Given the description of an element on the screen output the (x, y) to click on. 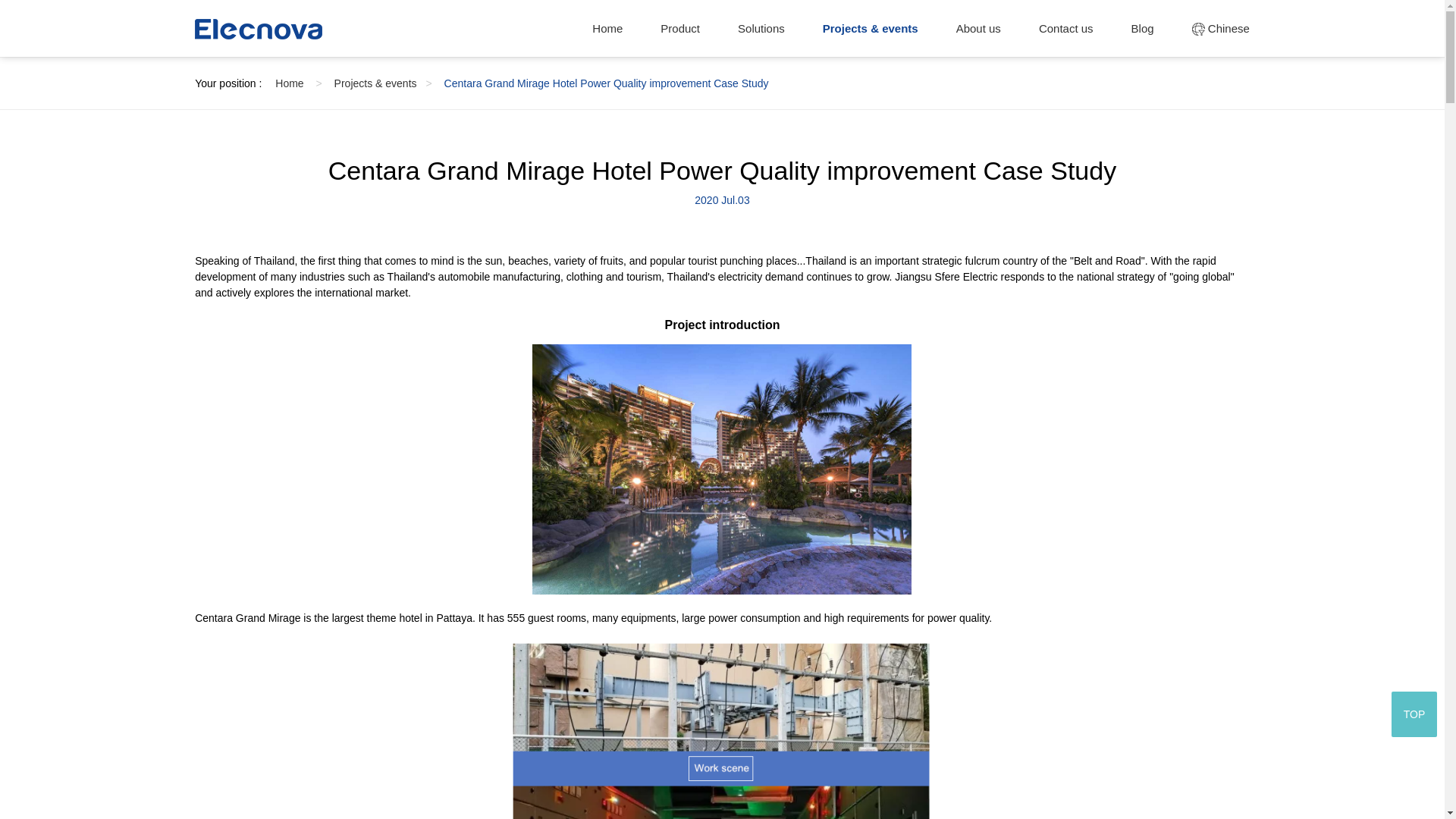
Solutions (761, 27)
Blog (1142, 27)
Chinese (1220, 27)
Product (680, 27)
Home (607, 27)
About us (978, 27)
Contact us (1066, 27)
1619751106450483BbmJ.png (721, 468)
1593766538757028ht95.png (721, 730)
